Given the description of an element on the screen output the (x, y) to click on. 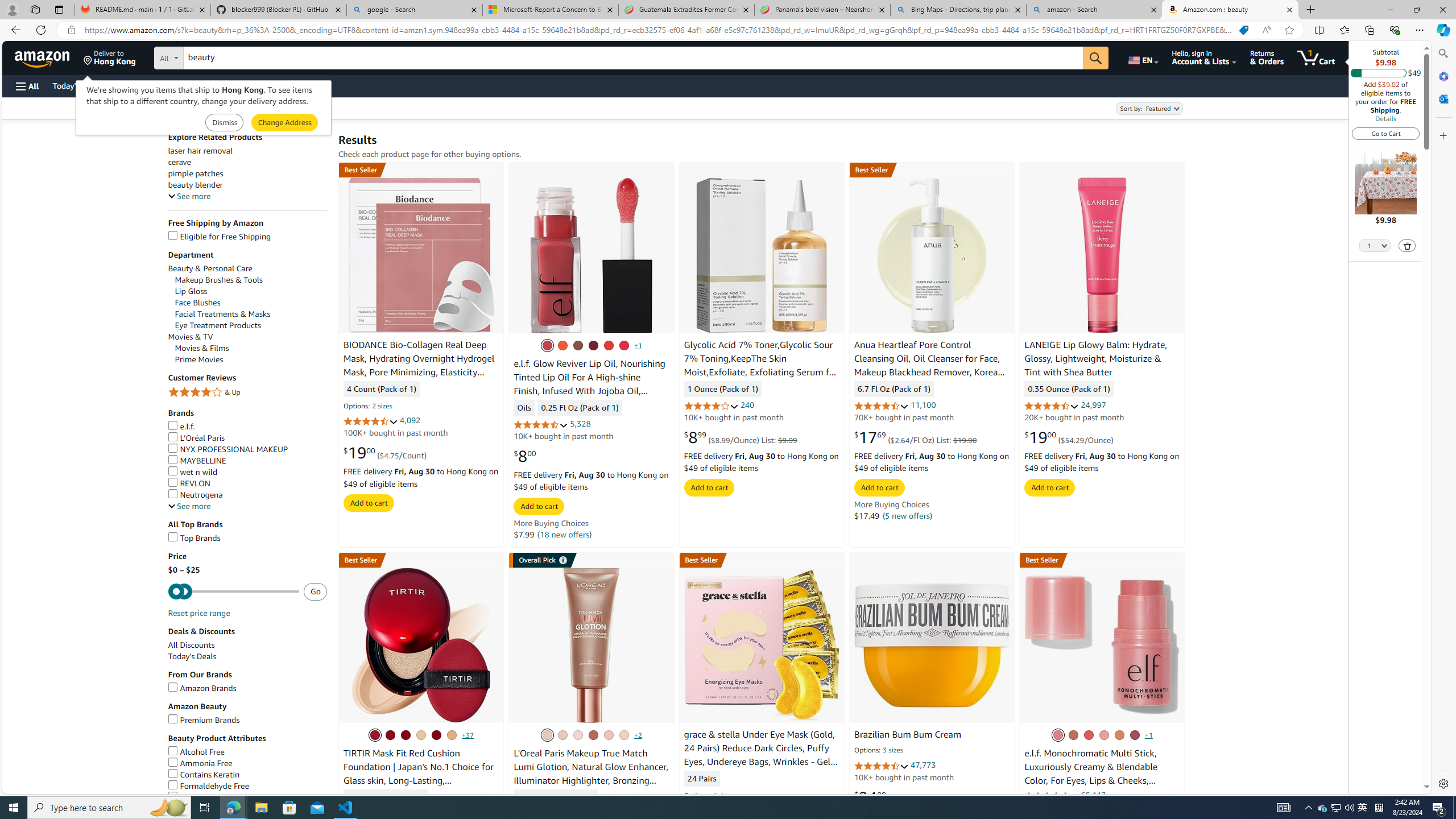
Formaldehyde Free (247, 786)
Movies & TV (189, 336)
Jam Session (593, 344)
wet n wild (192, 471)
beauty blender (247, 185)
Bronzed Cherry (1073, 734)
beauty blender (194, 184)
Details (1385, 118)
4.3 out of 5 stars (1051, 795)
Submit (284, 122)
Amazon.com : beauty (1230, 9)
23N Sand (435, 734)
REVLON (189, 482)
